Given the description of an element on the screen output the (x, y) to click on. 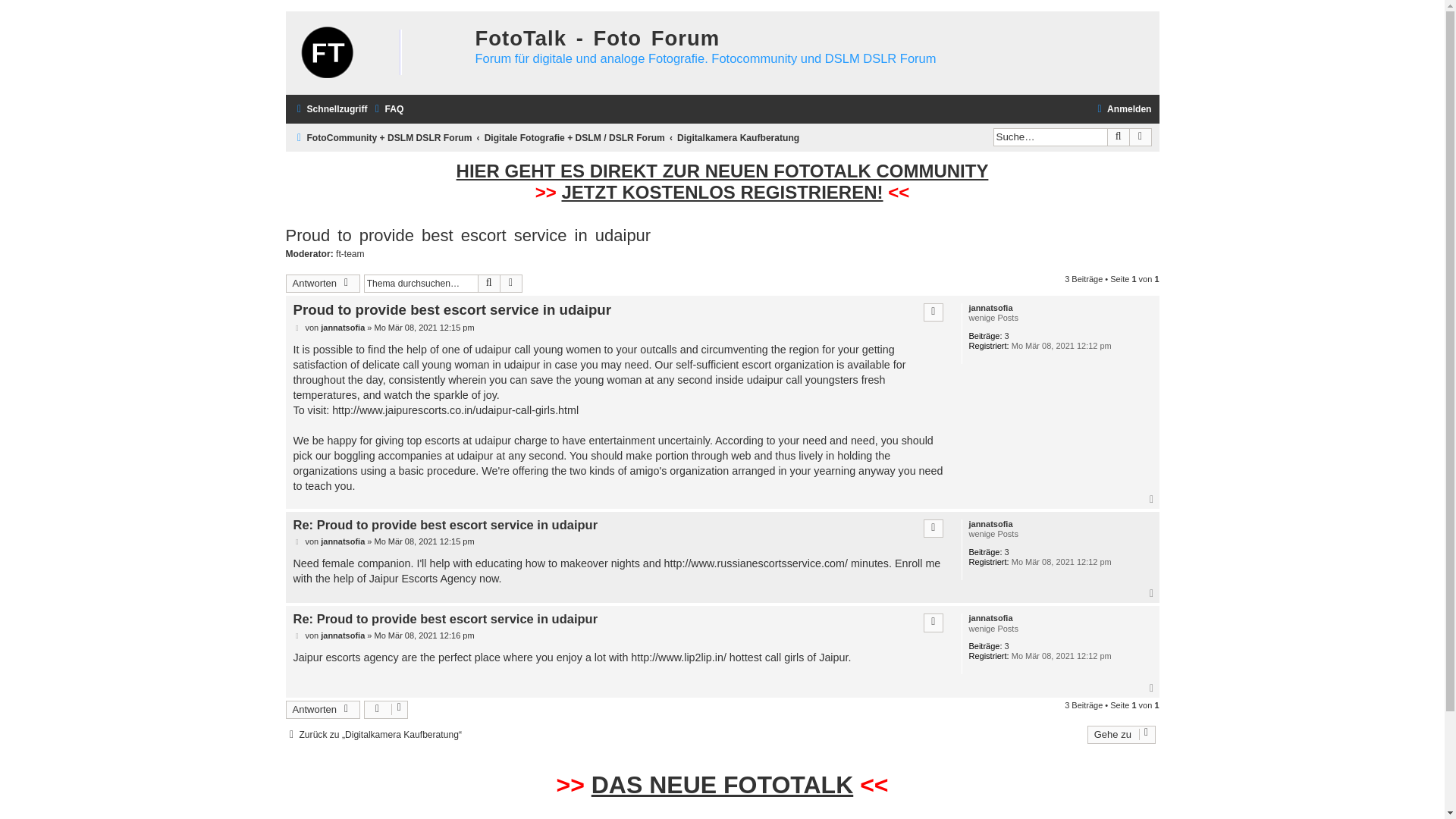
jannatsofia (342, 542)
Erweiterte Suche (511, 283)
FAQ (387, 109)
Anmelden (1122, 109)
Erweiterte Suche (1140, 136)
Digitalkamera Kaufberatung (738, 137)
Proud to provide best escort service in udaipur (467, 235)
Zitieren (933, 312)
HIER GEHT ES DIREKT ZUR NEUEN FOTOTALK COMMUNITY (722, 170)
Beitrag (297, 327)
